Given the description of an element on the screen output the (x, y) to click on. 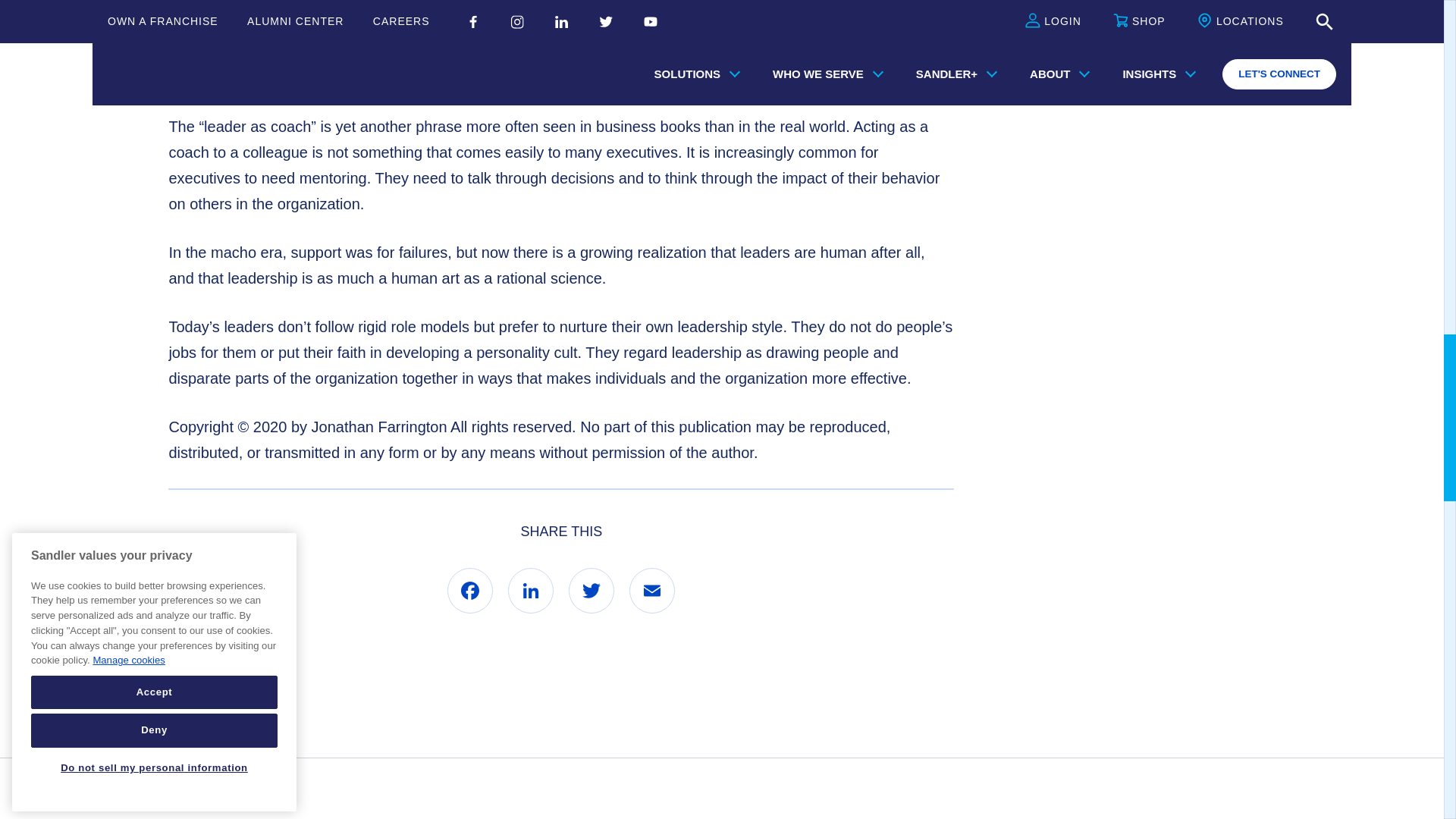
Twitter (591, 590)
Email (651, 590)
Facebook (469, 590)
LinkedIn (530, 590)
